Given the description of an element on the screen output the (x, y) to click on. 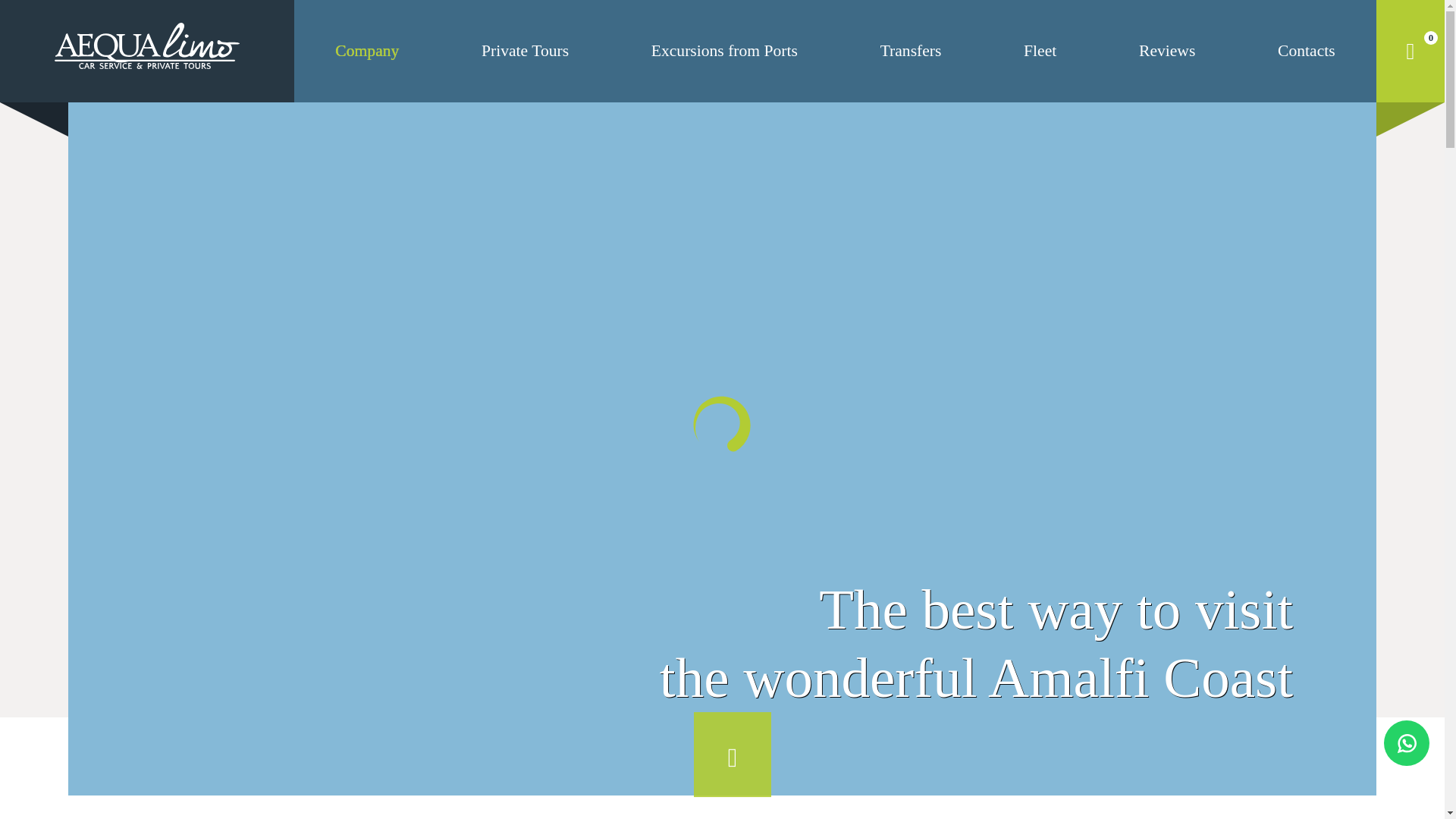
Reviews (1166, 51)
Fleet (1040, 51)
Transfers (911, 51)
Contacts (1306, 51)
Company (366, 51)
Private Tours (525, 51)
Excursions from Ports (723, 51)
